Given the description of an element on the screen output the (x, y) to click on. 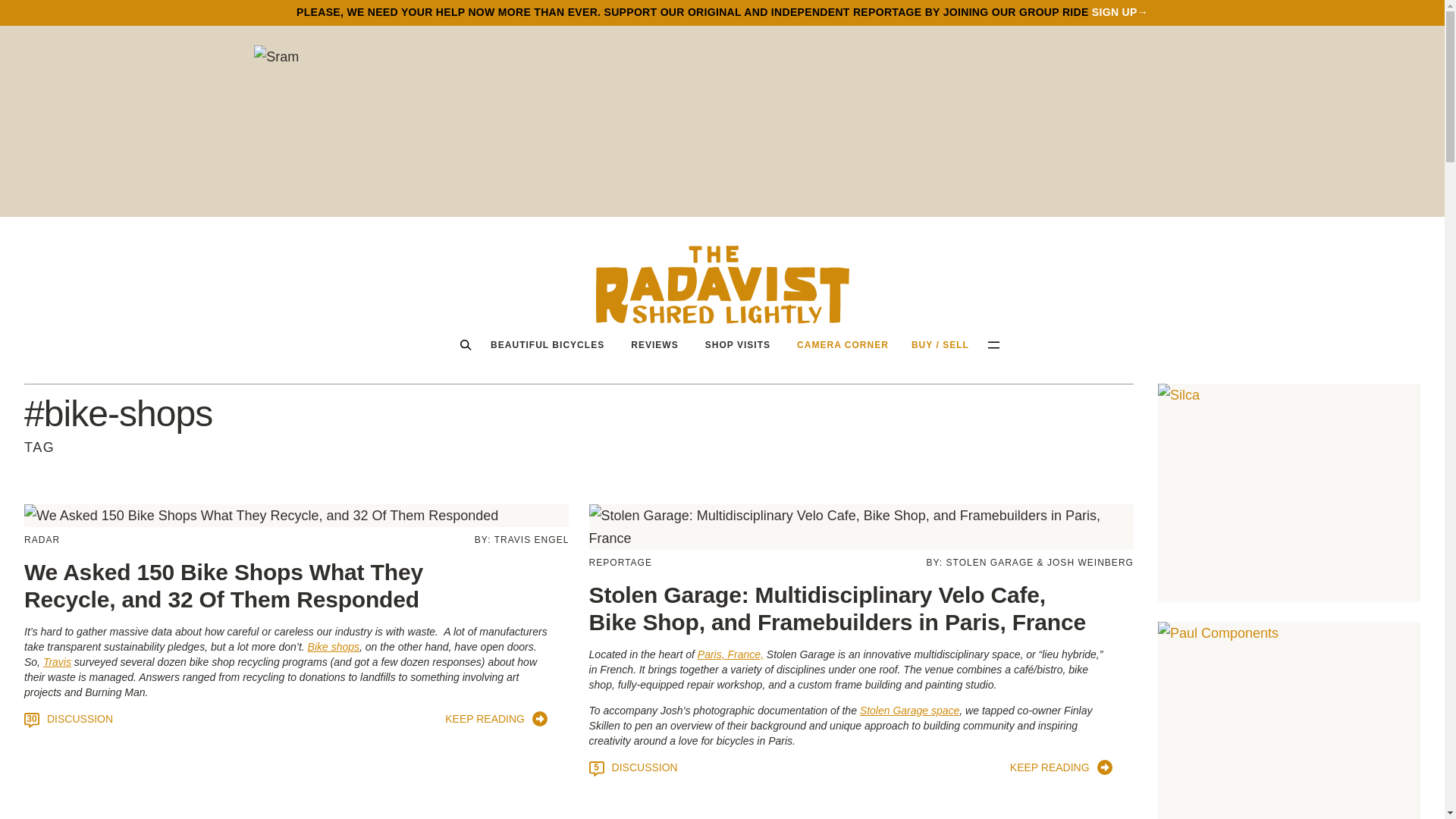
The Radavist (721, 284)
CAMERA CORNER (842, 344)
Silca (1289, 492)
SHOP VISITS (737, 344)
The Radavist (721, 284)
REVIEWS (654, 344)
BEAUTIFUL BICYCLES (547, 344)
Paul Components (1289, 720)
